Given the description of an element on the screen output the (x, y) to click on. 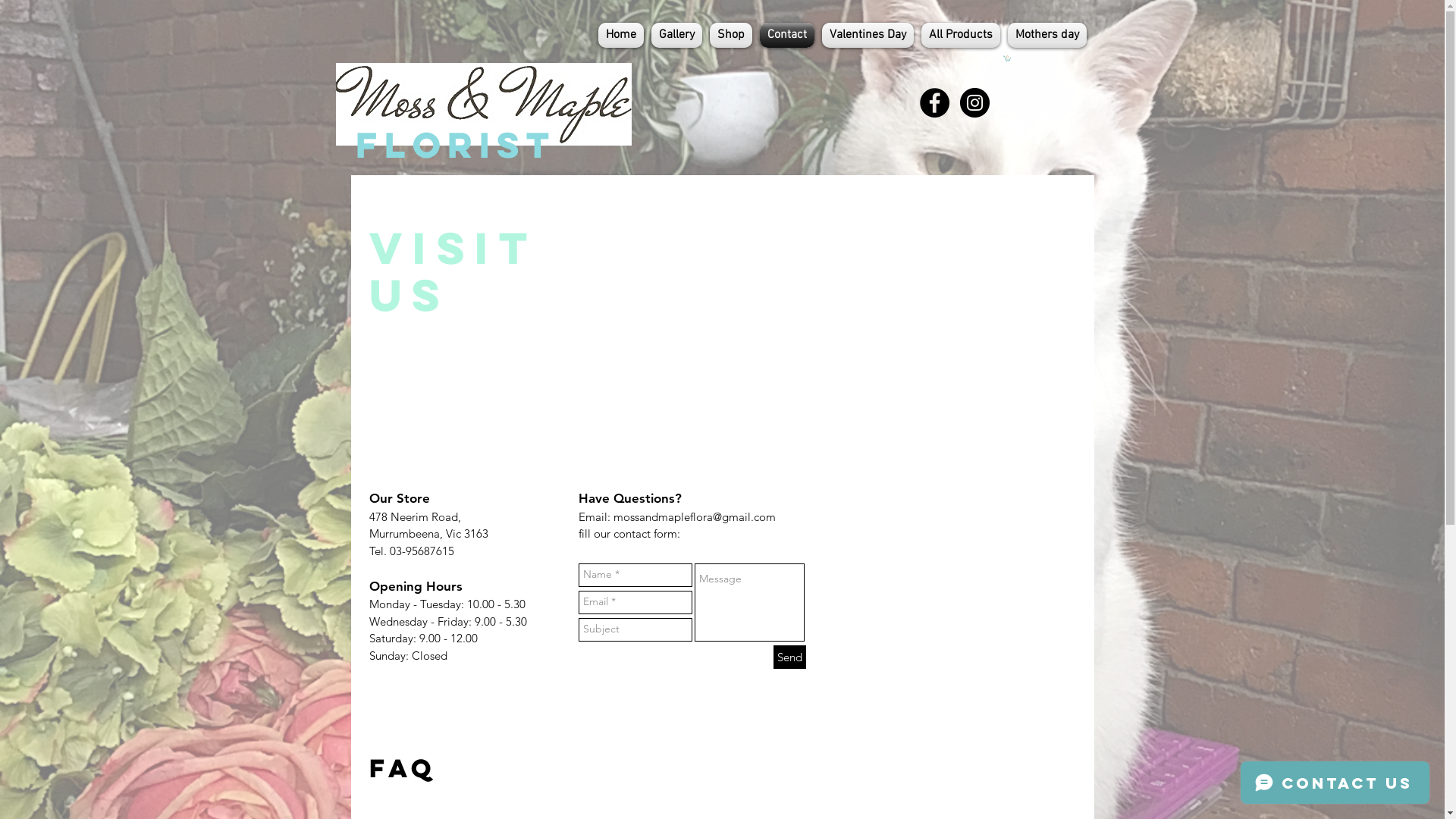
0 Element type: text (1006, 58)
Send Element type: text (789, 656)
Home Element type: text (620, 34)
Valentines Day Element type: text (866, 34)
Google Maps Element type: hover (961, 577)
All Products Element type: text (960, 34)
Gallery Element type: text (676, 34)
Shop Element type: text (730, 34)
Mothers day Element type: text (1045, 34)
Contact Element type: text (786, 34)
moss and maple text white back_edited.jpg Element type: hover (482, 103)
mossandmapleflora@gmail.com Element type: text (693, 516)
